Given the description of an element on the screen output the (x, y) to click on. 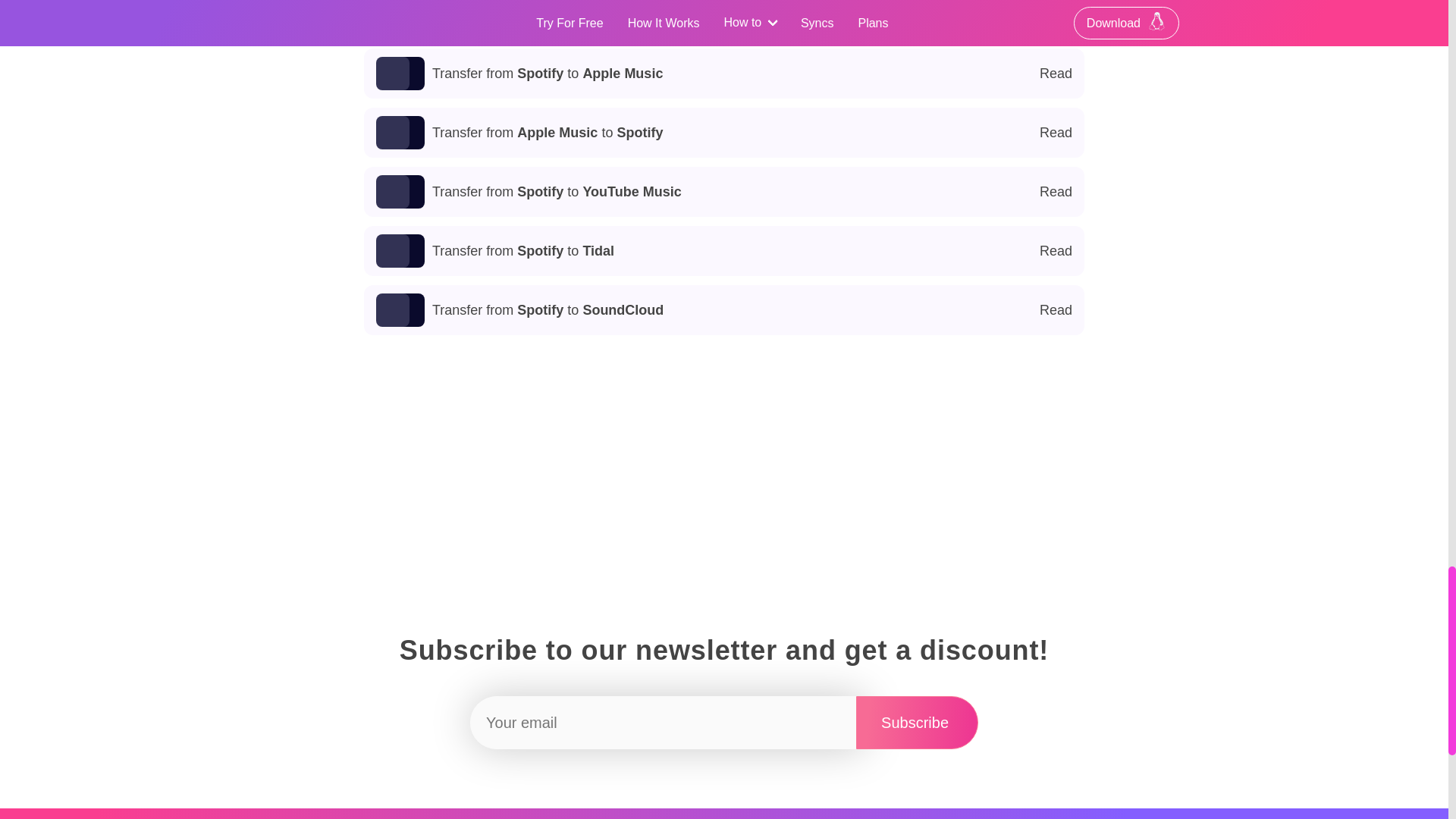
Subscribe (724, 73)
Subscribe (724, 309)
